Given the description of an element on the screen output the (x, y) to click on. 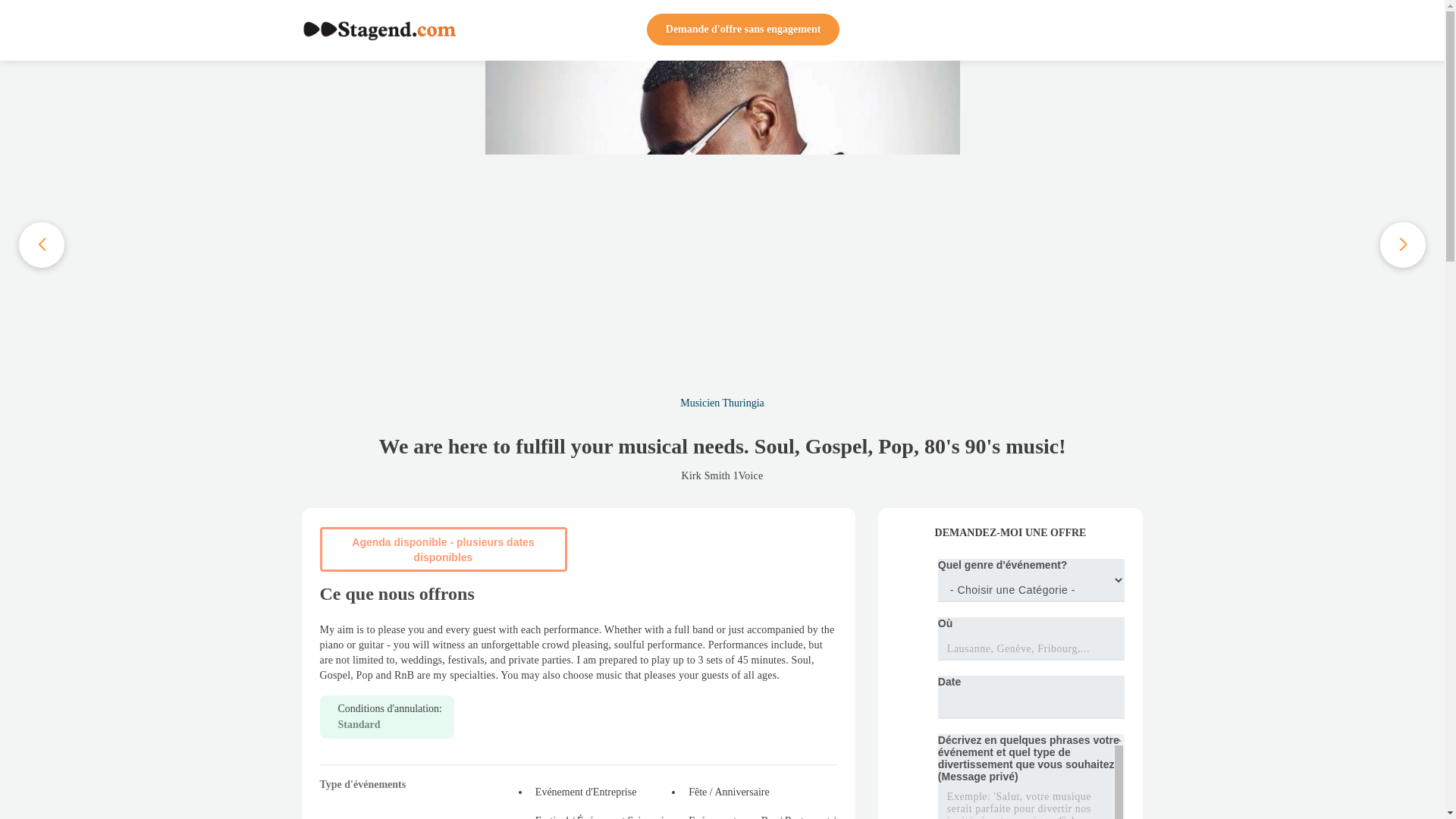
Musicien Thuringia (721, 402)
Musicien Thuringia (721, 402)
stagend.com (379, 30)
Demande d'offre sans engagement (743, 29)
